Given the description of an element on the screen output the (x, y) to click on. 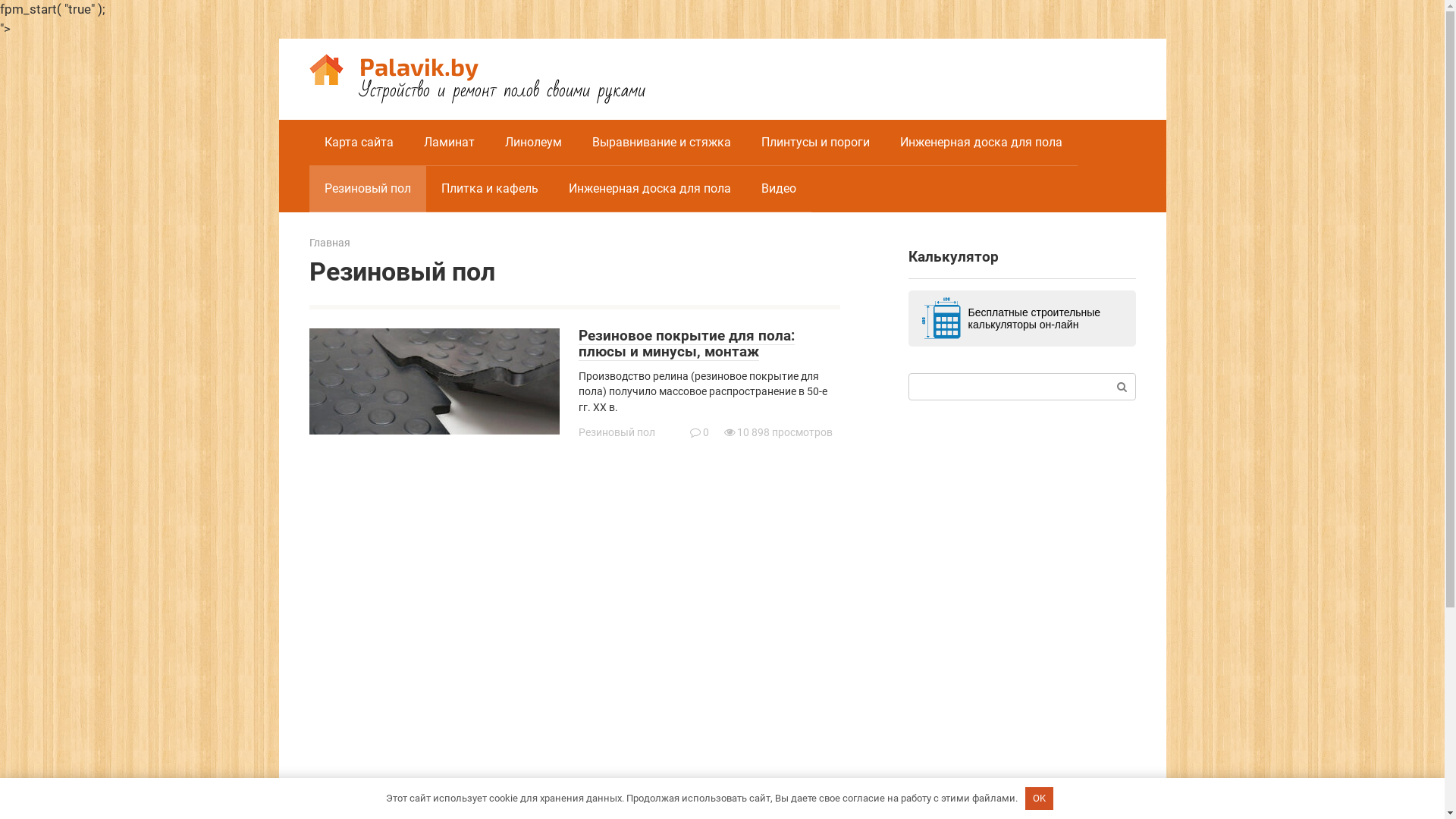
OK Element type: text (1039, 798)
Palavik.by Element type: text (418, 65)
